Given the description of an element on the screen output the (x, y) to click on. 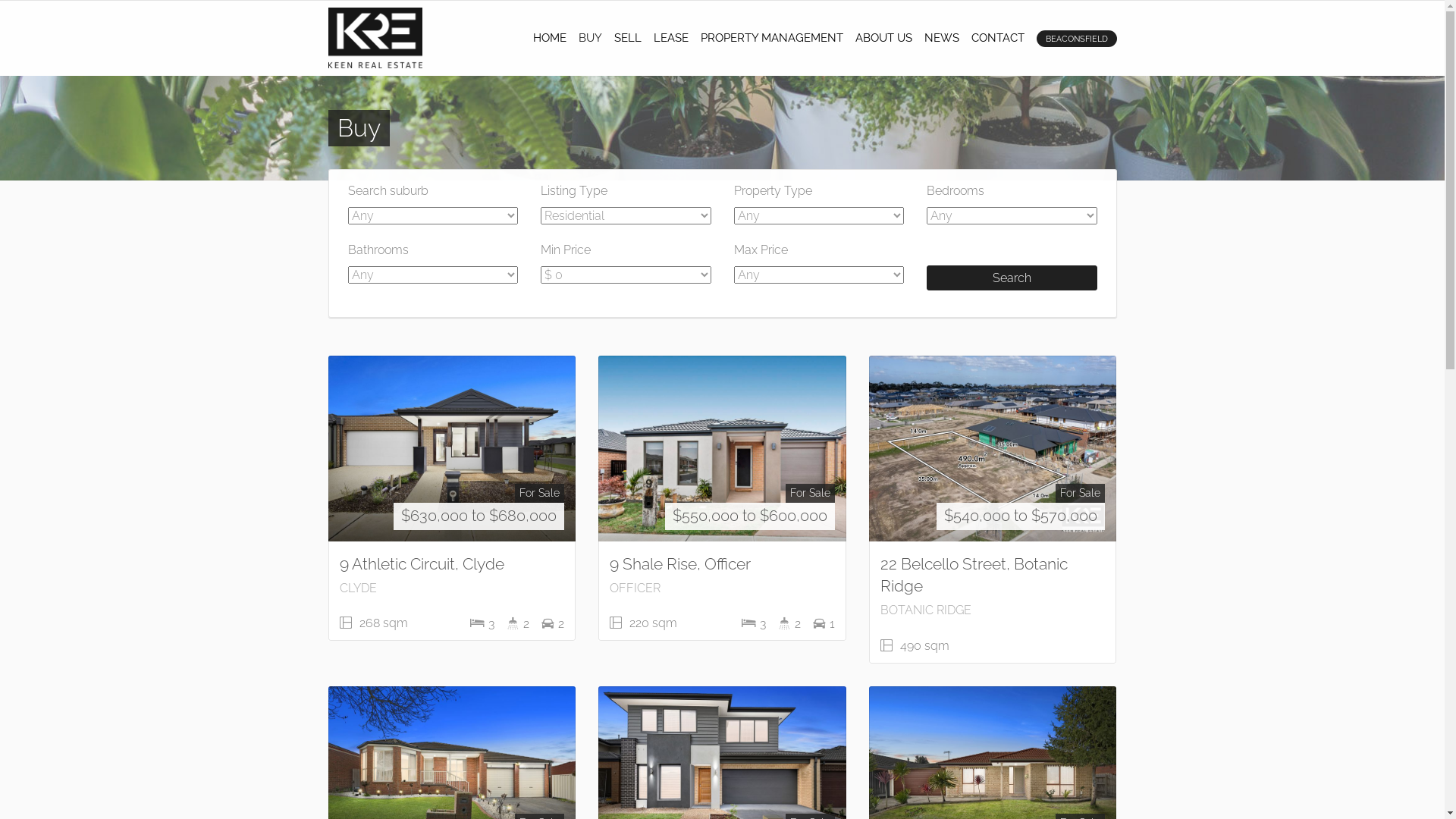
BOTANIC RIDGE Element type: text (925, 609)
For Sale Element type: text (1080, 492)
Log In Element type: text (721, 260)
BUY Element type: text (589, 37)
For Sale Element type: text (810, 492)
BEACONSFIELD Element type: text (1075, 38)
22 Belcello Street, Botanic Ridge Element type: text (973, 574)
CONTACT Element type: text (996, 37)
HOME Element type: text (548, 37)
OFFICER Element type: text (634, 587)
NEWS Element type: text (940, 37)
LEASE Element type: text (670, 37)
CLYDE Element type: text (357, 587)
9 Shale Rise, Officer Element type: text (679, 563)
9 Athletic Circuit, Clyde Element type: text (421, 563)
SELL Element type: text (627, 37)
PROPERTY MANAGEMENT Element type: text (771, 37)
For Sale Element type: text (539, 492)
Search Element type: text (1011, 277)
ABOUT US Element type: text (883, 37)
